Given the description of an element on the screen output the (x, y) to click on. 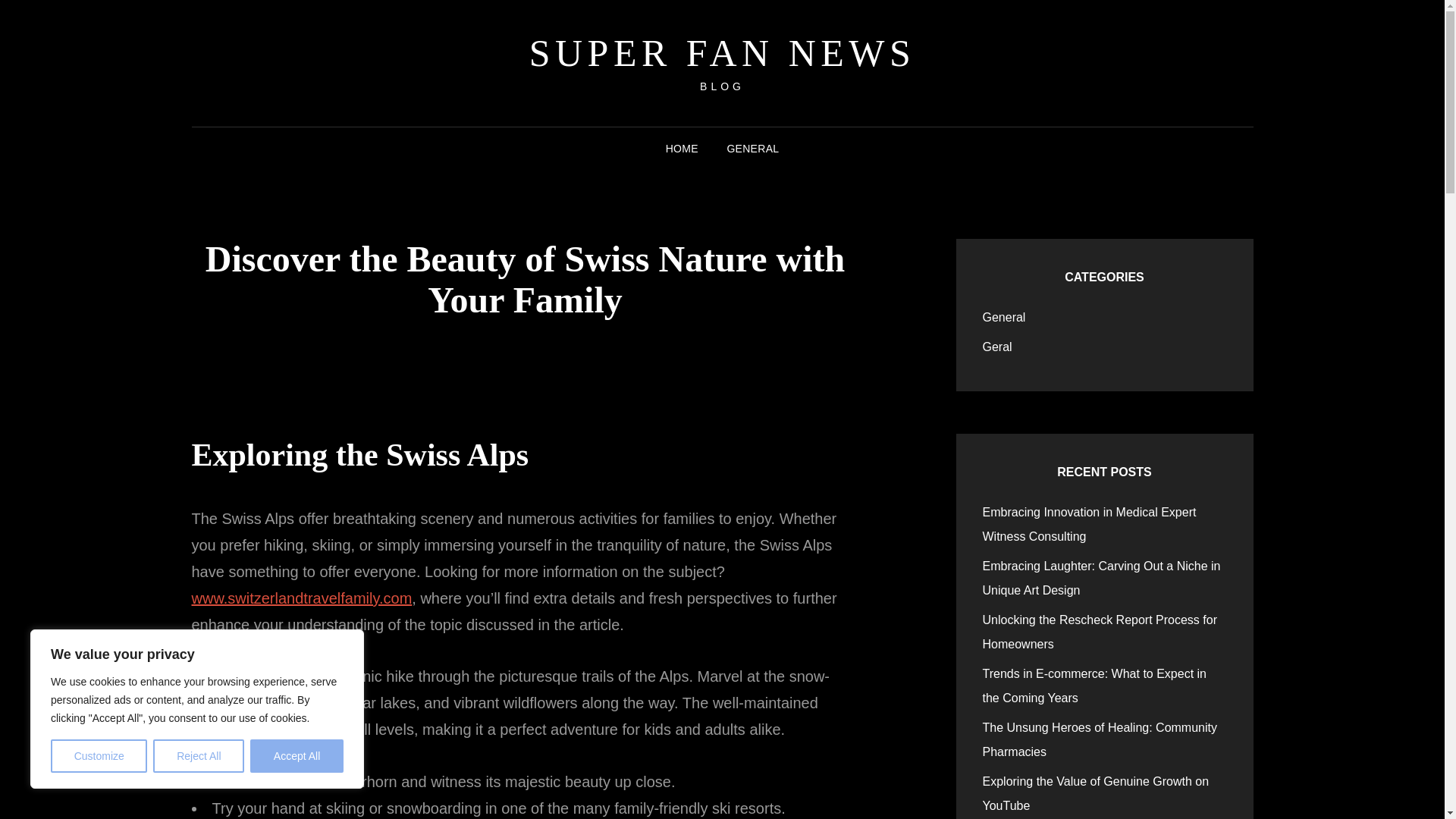
Reject All (198, 756)
Trends in E-commerce: What to Expect in the Coming Years (1094, 685)
HOME (681, 148)
Exploring the Value of Genuine Growth on YouTube (1095, 793)
Accept All (296, 756)
GENERAL (752, 148)
Embracing Laughter: Carving Out a Niche in Unique Art Design (1101, 578)
Unlocking the Rescheck Report Process for Homeowners (1099, 631)
General (1004, 317)
SUPER FAN NEWS (722, 52)
